Given the description of an element on the screen output the (x, y) to click on. 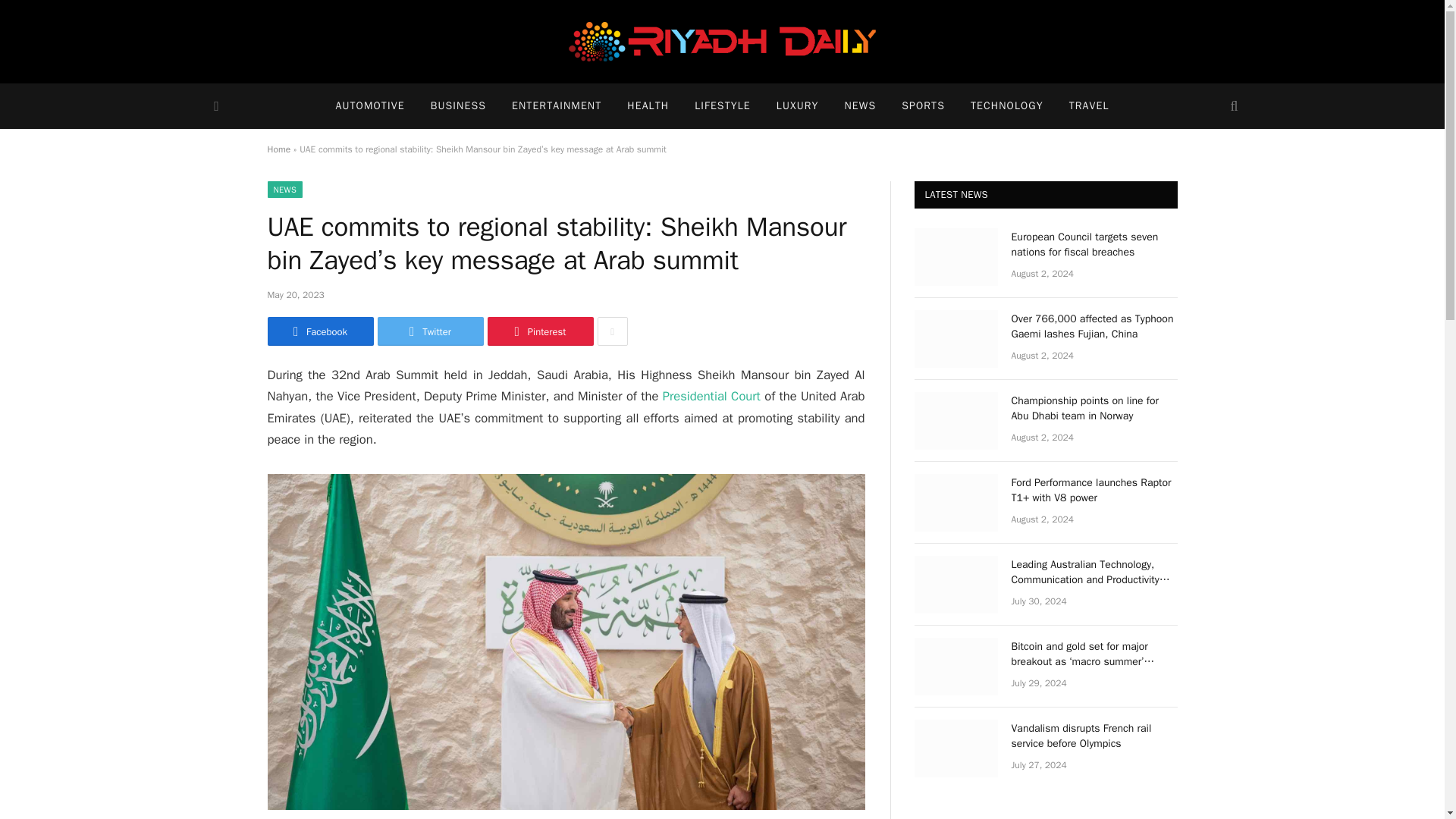
Riyadh Daily (721, 41)
SPORTS (923, 105)
AUTOMOTIVE (368, 105)
LUXURY (796, 105)
LIFESTYLE (721, 105)
Home (277, 149)
Facebook (319, 330)
Share on Pinterest (539, 330)
BUSINESS (458, 105)
Share on Facebook (319, 330)
